Given the description of an element on the screen output the (x, y) to click on. 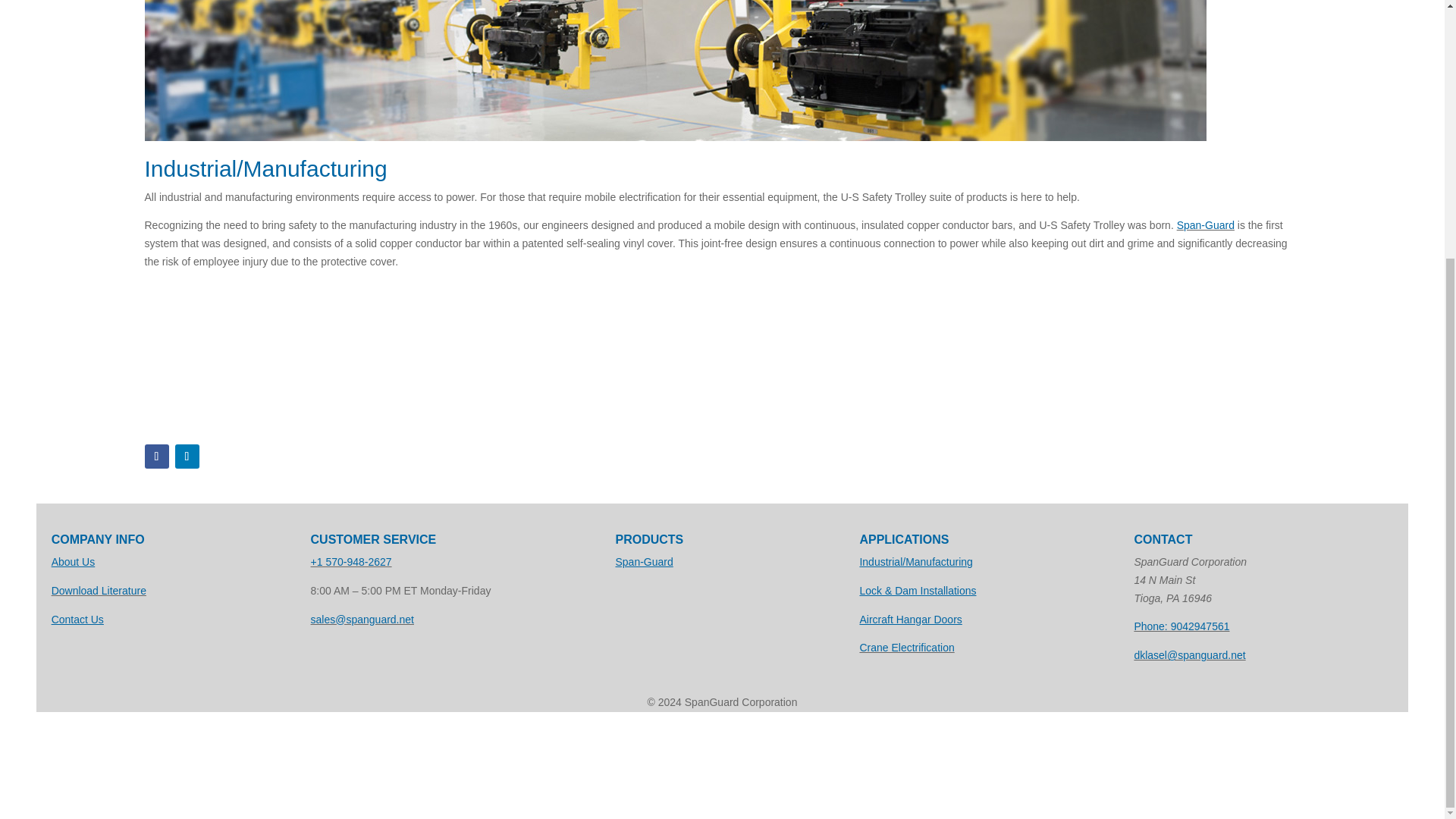
Crane Electrification (906, 647)
Aircraft Hangar Doors (909, 619)
Contact Us (76, 619)
Download Literature (98, 590)
Follow on LinkedIn (186, 456)
Aircraft Hangar Doors (909, 619)
Crane Electrification (906, 647)
Phone: 9042947561 (1181, 625)
Span-Guard (1205, 224)
Download Literature (98, 590)
About Us (73, 562)
Span-Guard (643, 562)
Contact Us (76, 619)
Follow on Facebook (156, 456)
About Us (73, 562)
